Given the description of an element on the screen output the (x, y) to click on. 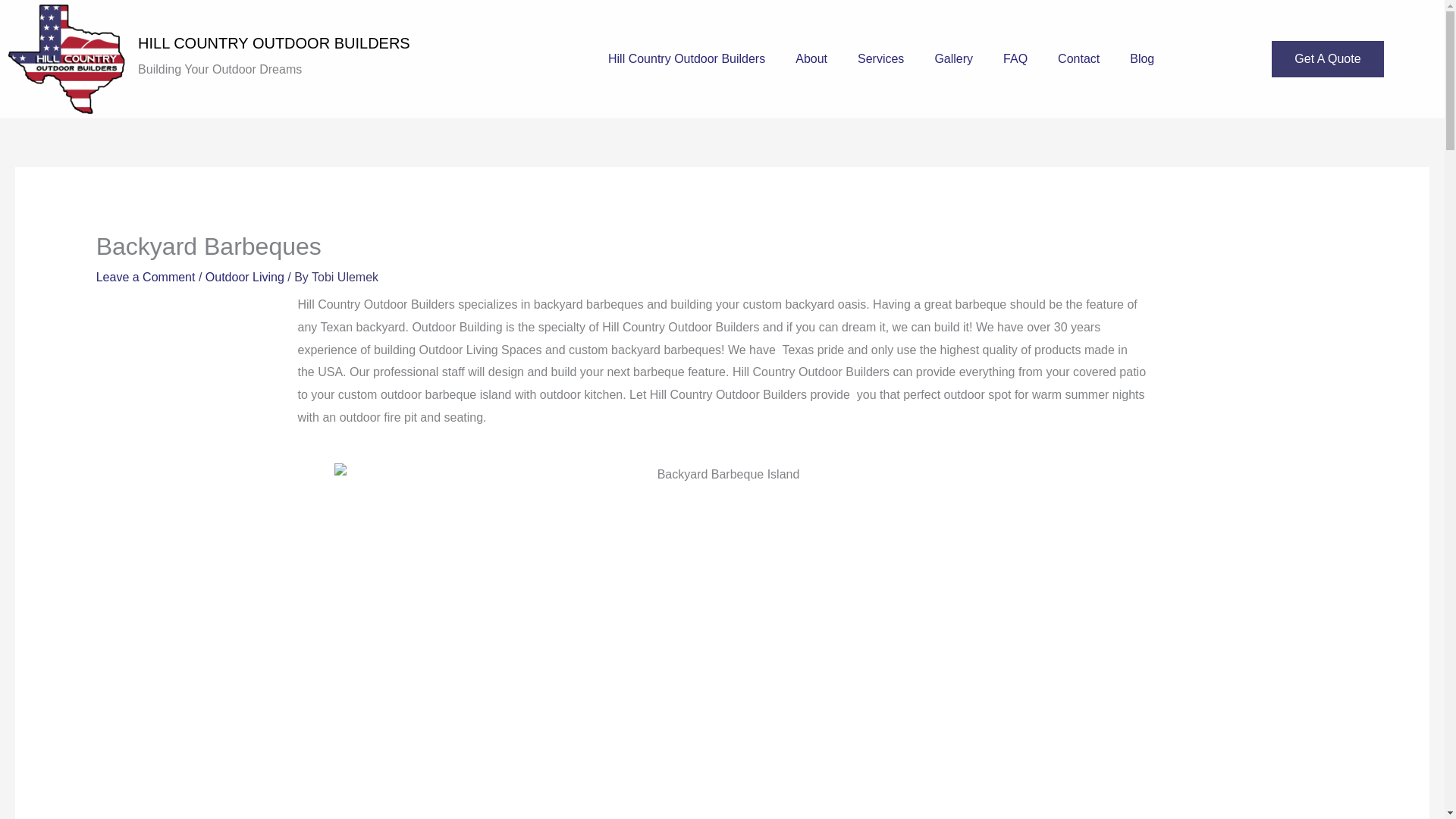
FAQ (1015, 58)
Services (880, 58)
Gallery (953, 58)
Contact (1078, 58)
About (811, 58)
Blog (1142, 58)
Get A Quote (1327, 58)
View all posts by Tobi Ulemek (344, 277)
HILL COUNTRY OUTDOOR BUILDERS (274, 43)
Hill Country Outdoor Builders (686, 58)
